Given the description of an element on the screen output the (x, y) to click on. 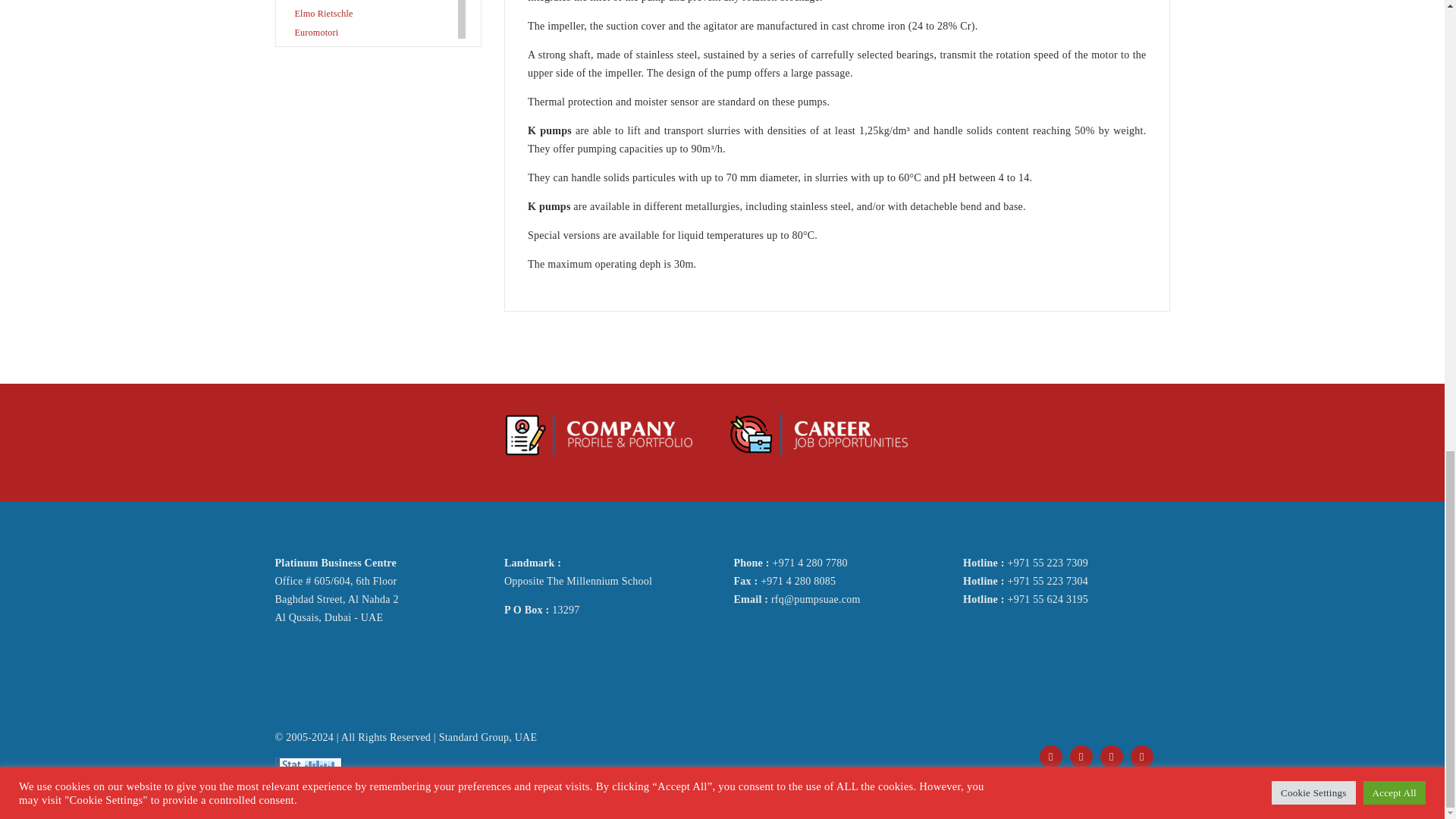
Web Analytics (307, 766)
